Given the description of an element on the screen output the (x, y) to click on. 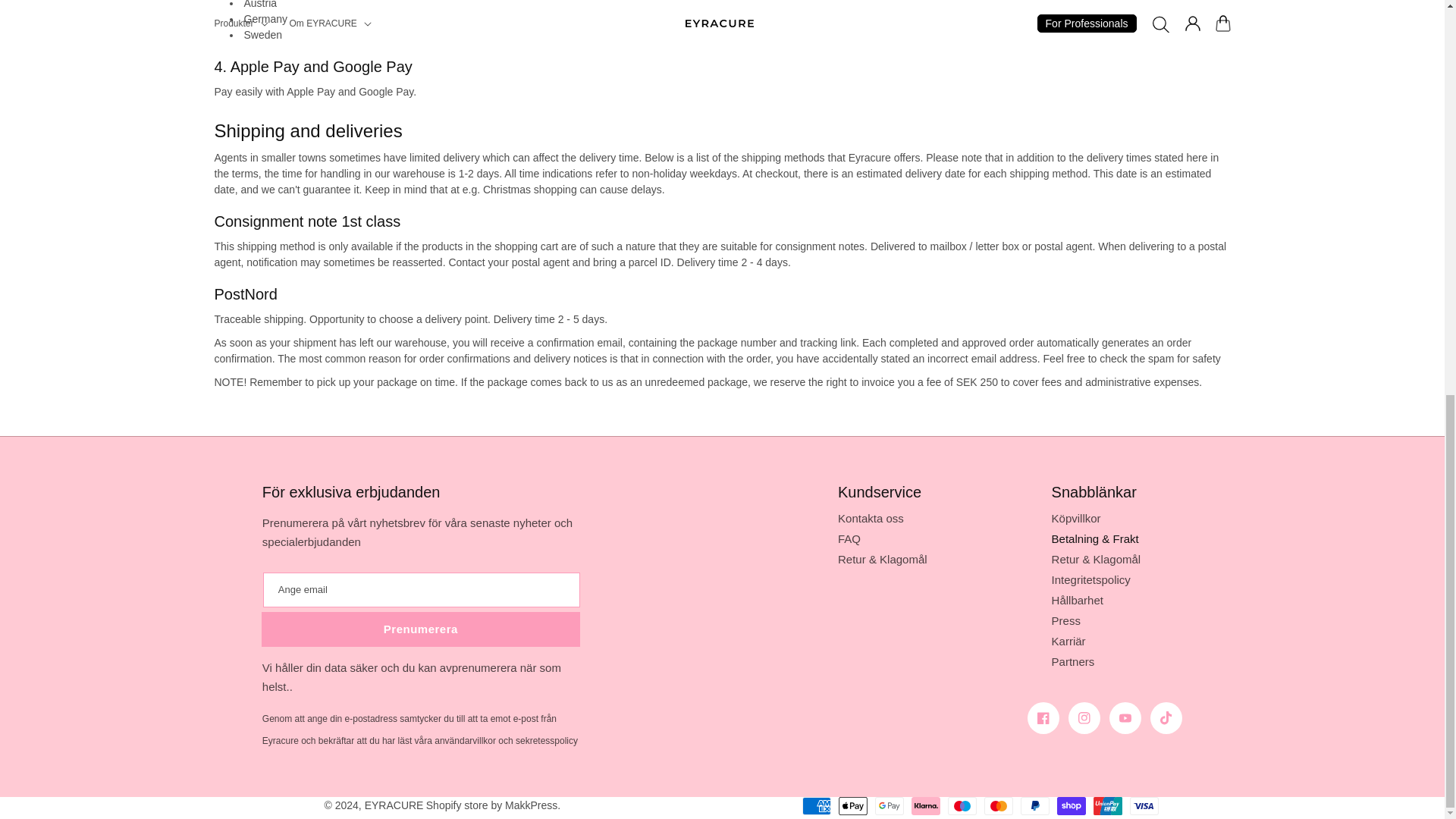
FAQ (849, 538)
Press (1065, 620)
Kontakta oss (871, 519)
Integritetspolicy (1091, 579)
